Given the description of an element on the screen output the (x, y) to click on. 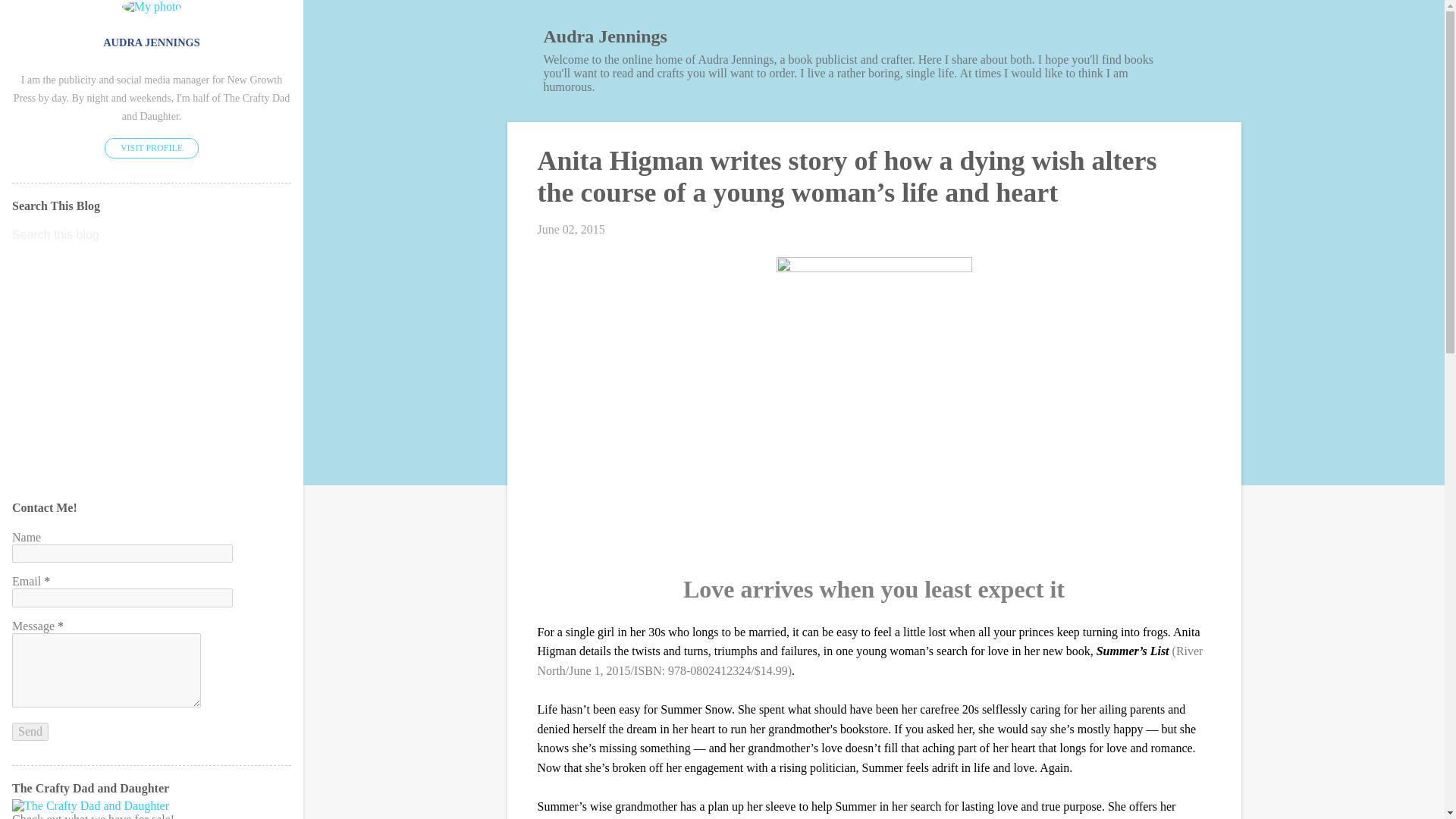
permanent link (570, 228)
VISIT PROFILE (151, 148)
Audra Jennings (604, 35)
Search (31, 18)
June 02, 2015 (570, 228)
AUDRA JENNINGS (151, 42)
Send (29, 731)
